Given the description of an element on the screen output the (x, y) to click on. 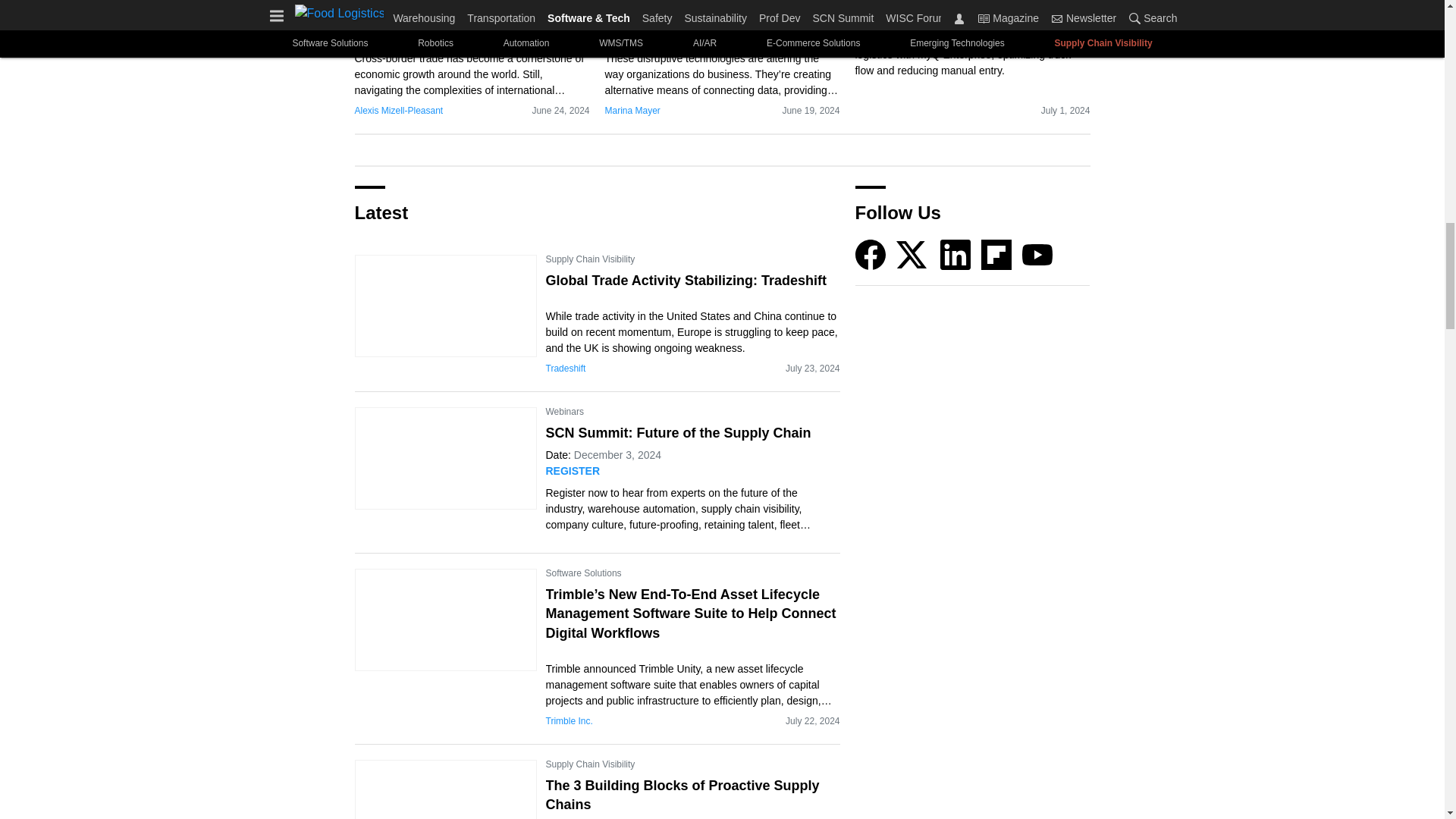
LinkedIn icon (955, 254)
YouTube icon (1037, 254)
Twitter X icon (911, 254)
Webinars (564, 411)
Facebook icon (870, 254)
Flipboard icon (996, 254)
